Given the description of an element on the screen output the (x, y) to click on. 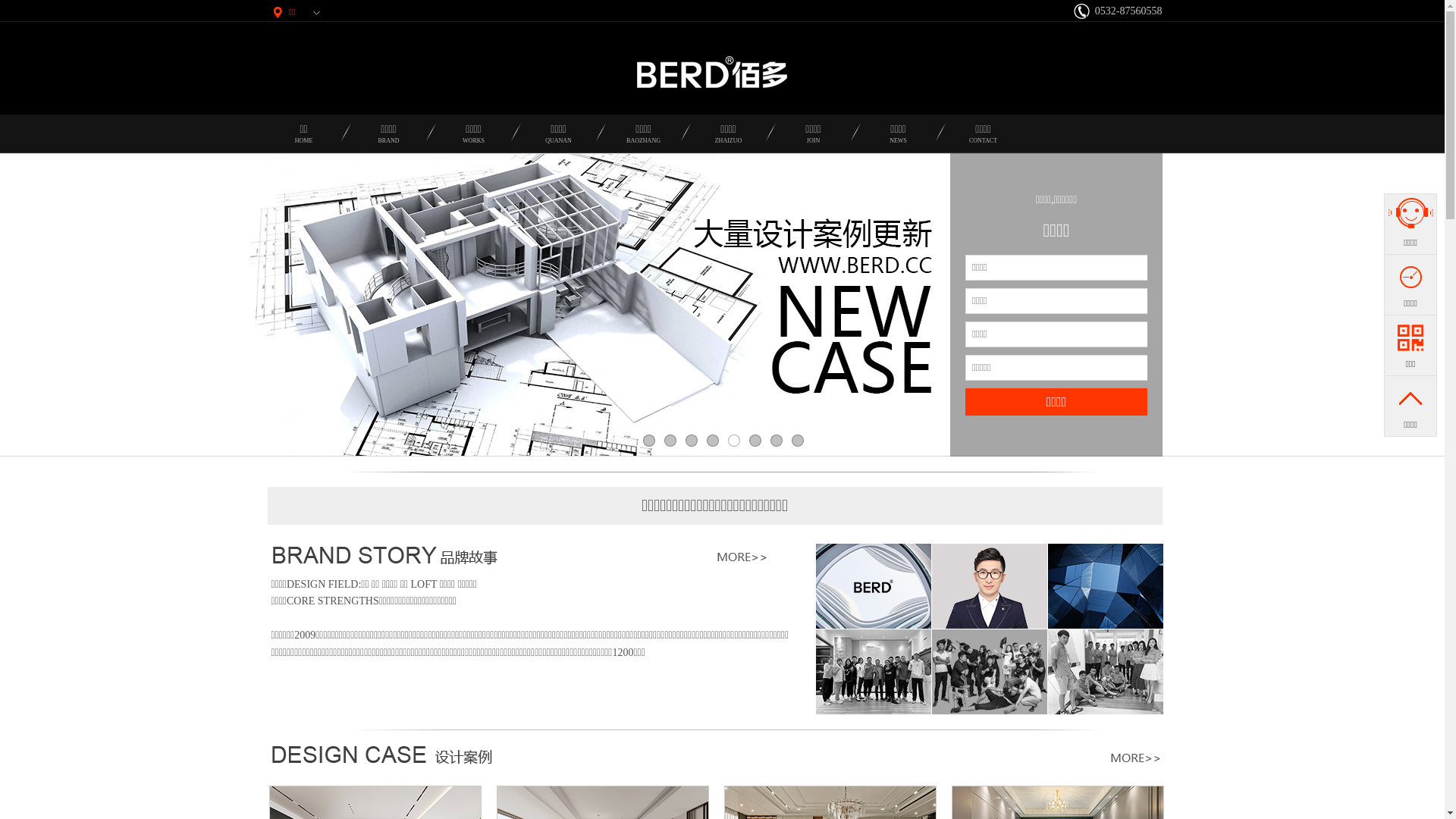
5 Element type: text (734, 440)
8 Element type: text (797, 440)
3 Element type: text (691, 440)
2 Element type: text (670, 440)
1 Element type: text (649, 440)
7 Element type: text (776, 440)
4 Element type: text (712, 440)
6 Element type: text (755, 440)
